Given the description of an element on the screen output the (x, y) to click on. 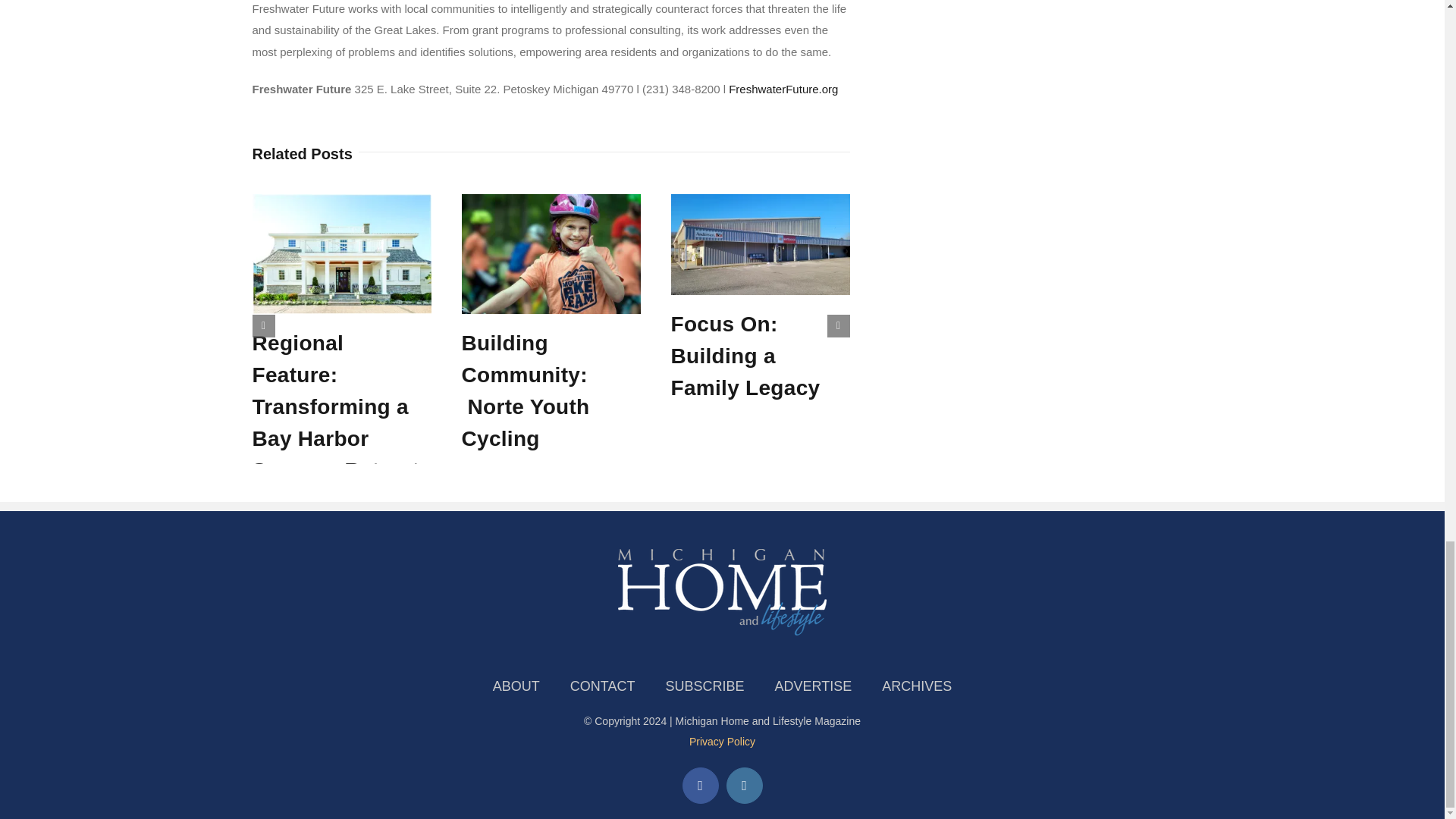
Facebook (700, 785)
Focus On: Building a Family Legacy (744, 355)
Regional Feature: Transforming a Bay Harbor Summer Retreat (335, 406)
Regional Feature: Transforming a Bay Harbor Summer Retreat (335, 406)
Instagram (744, 785)
FreshwaterFuture.org (783, 88)
